Given the description of an element on the screen output the (x, y) to click on. 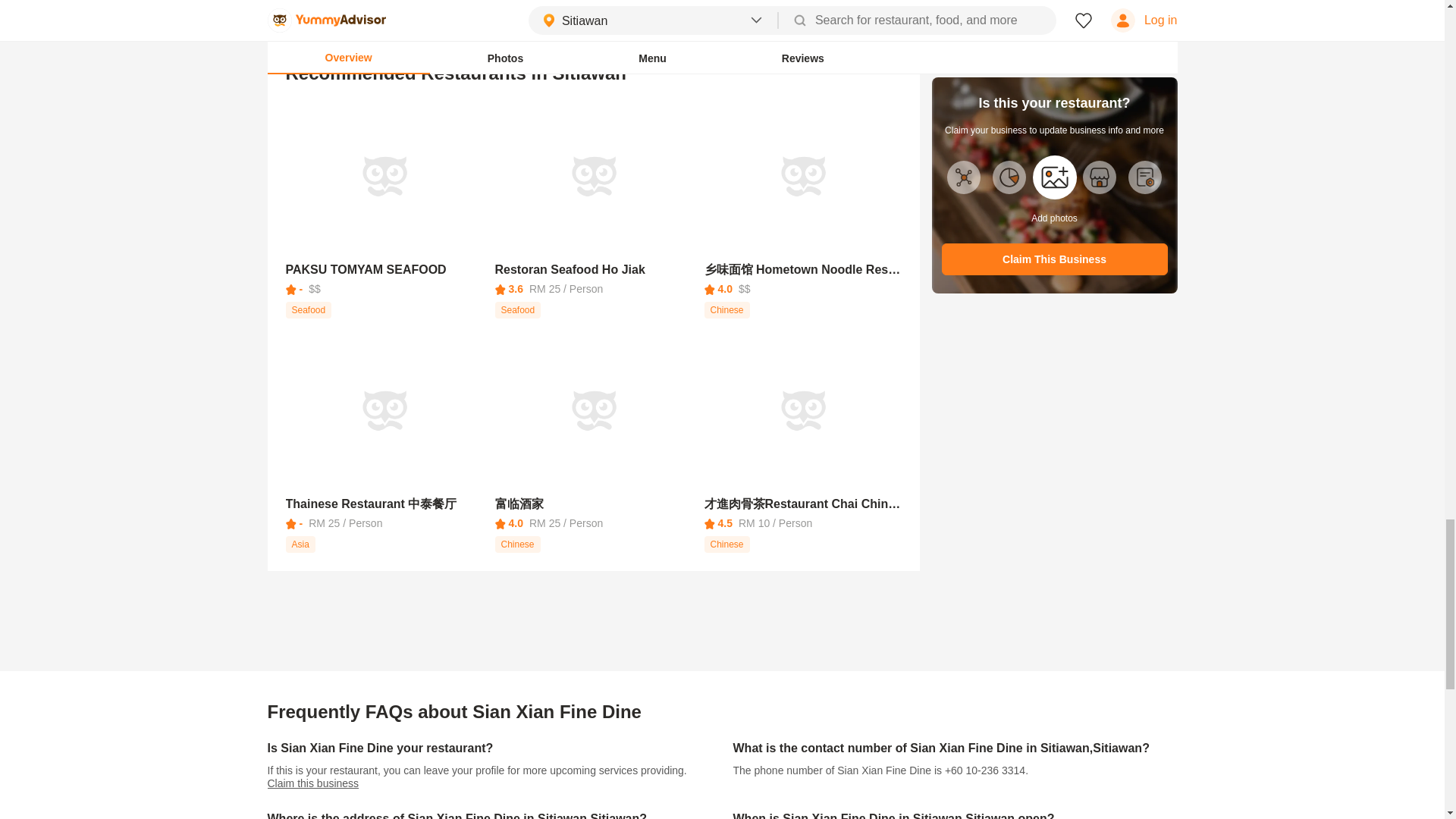
Claim This Business (1111, 7)
Kuala Lumpur (1054, 37)
Claim this business (1298, 7)
